Given the description of an element on the screen output the (x, y) to click on. 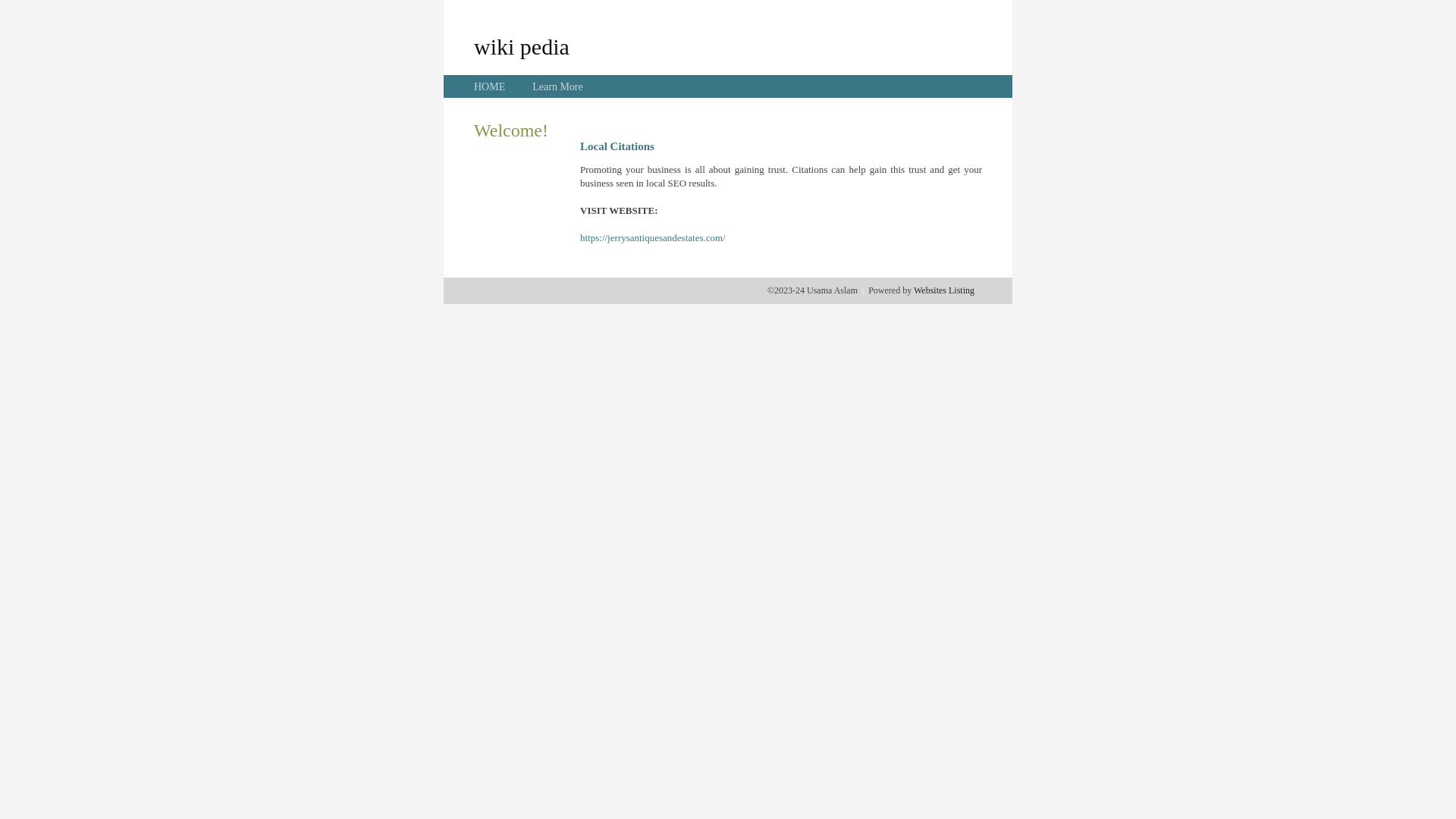
https://jerrysantiquesandestates.com/ Element type: text (652, 237)
wiki pedia Element type: text (521, 46)
HOME Element type: text (489, 86)
Learn More Element type: text (557, 86)
Websites Listing Element type: text (943, 290)
